Given the description of an element on the screen output the (x, y) to click on. 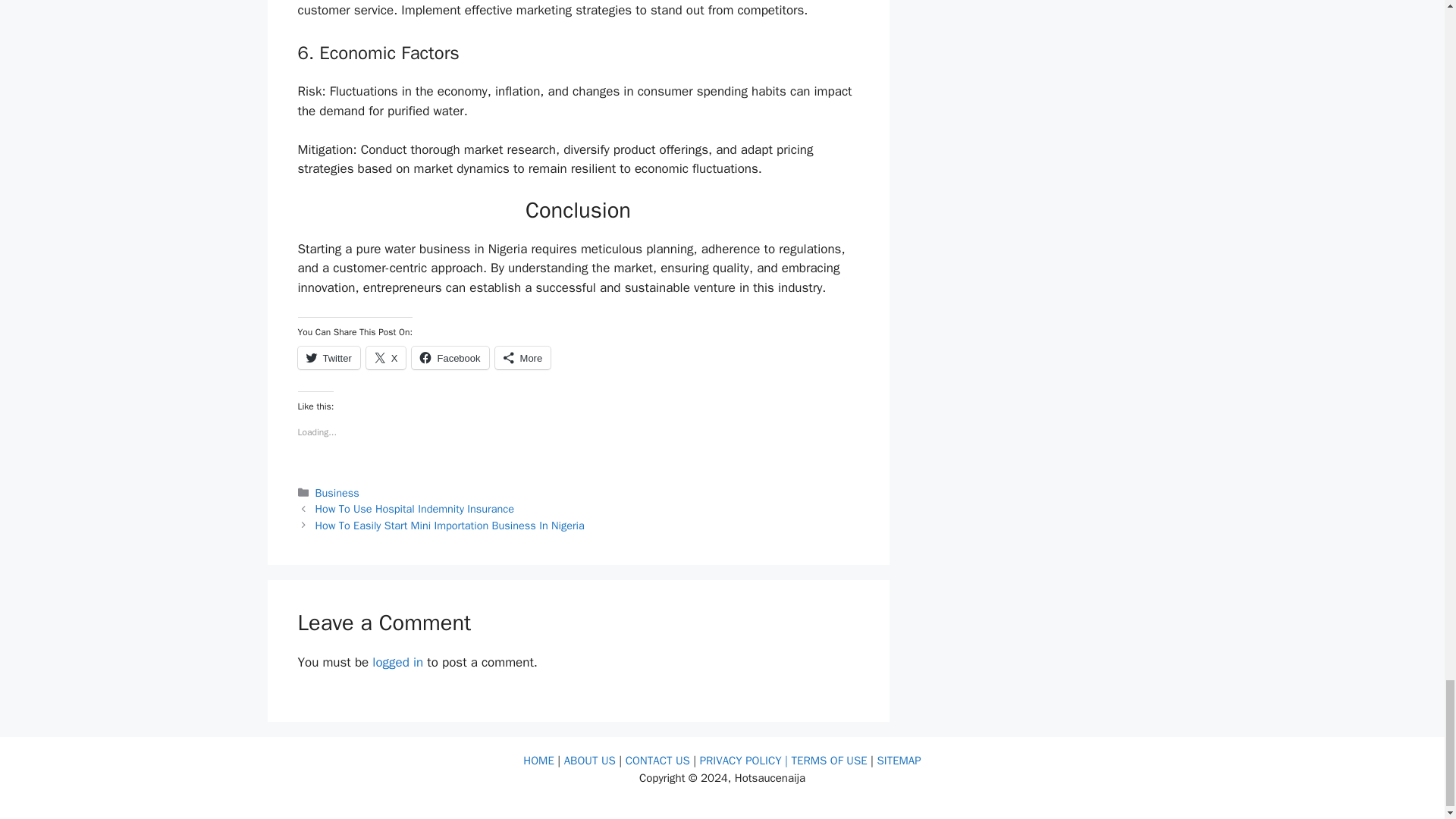
Click to share on Twitter (328, 357)
HOME (539, 760)
Business (337, 492)
Twitter (328, 357)
X (386, 357)
SITEMAP (898, 760)
CONTACT US (658, 760)
TERMS OF USE (830, 760)
More (523, 357)
Click to share on X (386, 357)
